Given the description of an element on the screen output the (x, y) to click on. 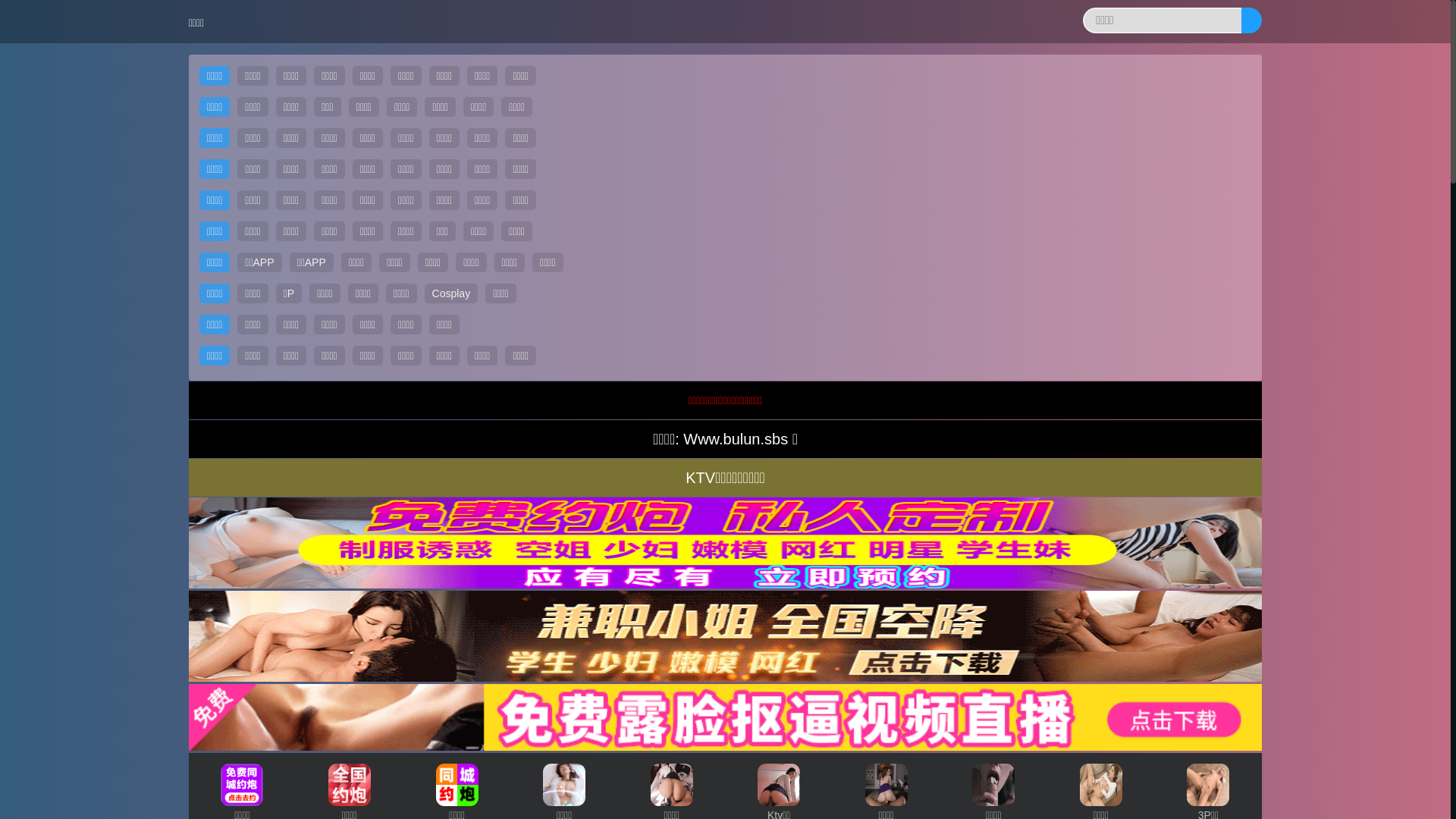
Cosplay Element type: text (451, 293)
